Given the description of an element on the screen output the (x, y) to click on. 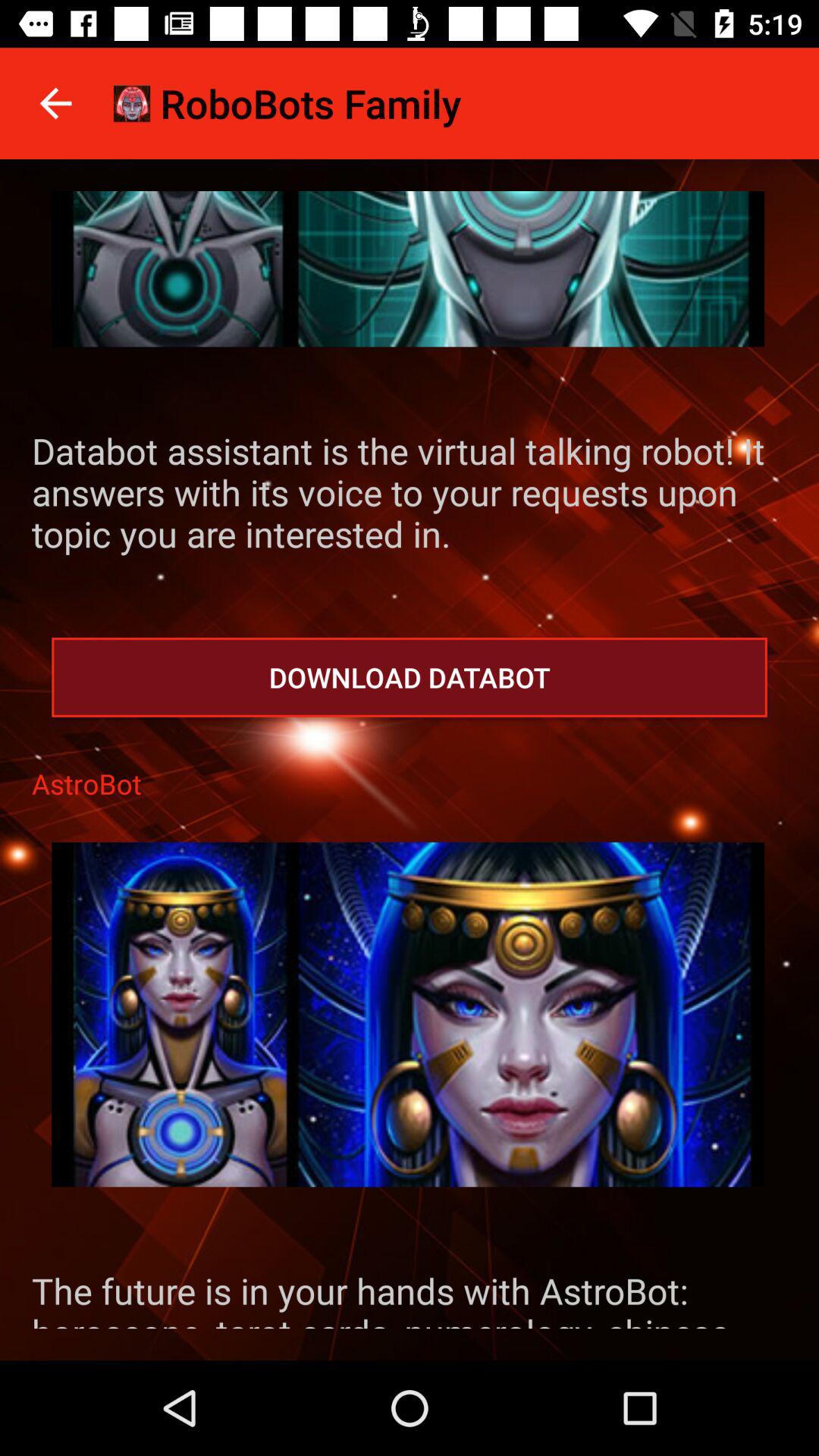
astrobot image (407, 1014)
